Given the description of an element on the screen output the (x, y) to click on. 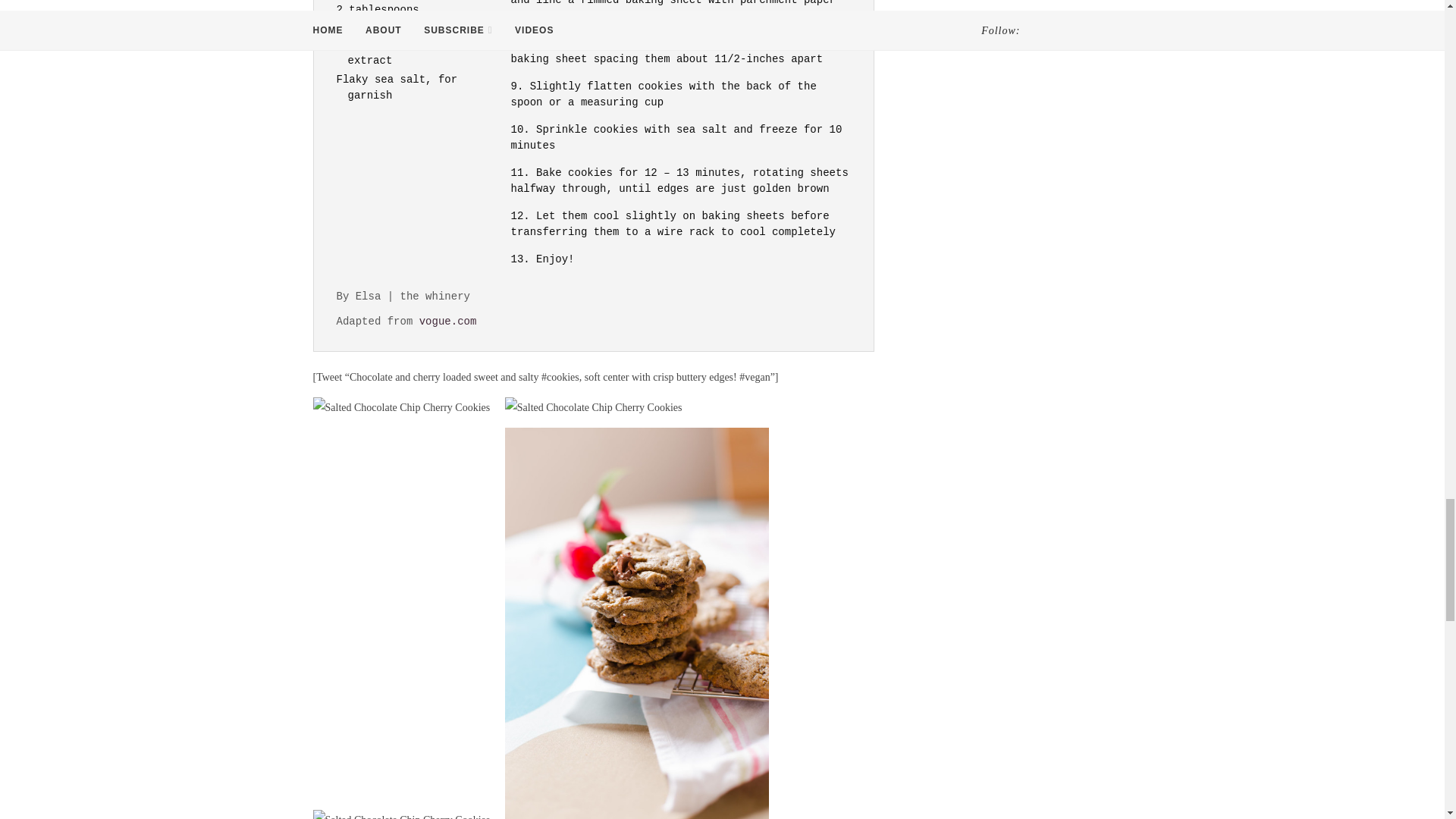
vogue.com (448, 321)
